Given the description of an element on the screen output the (x, y) to click on. 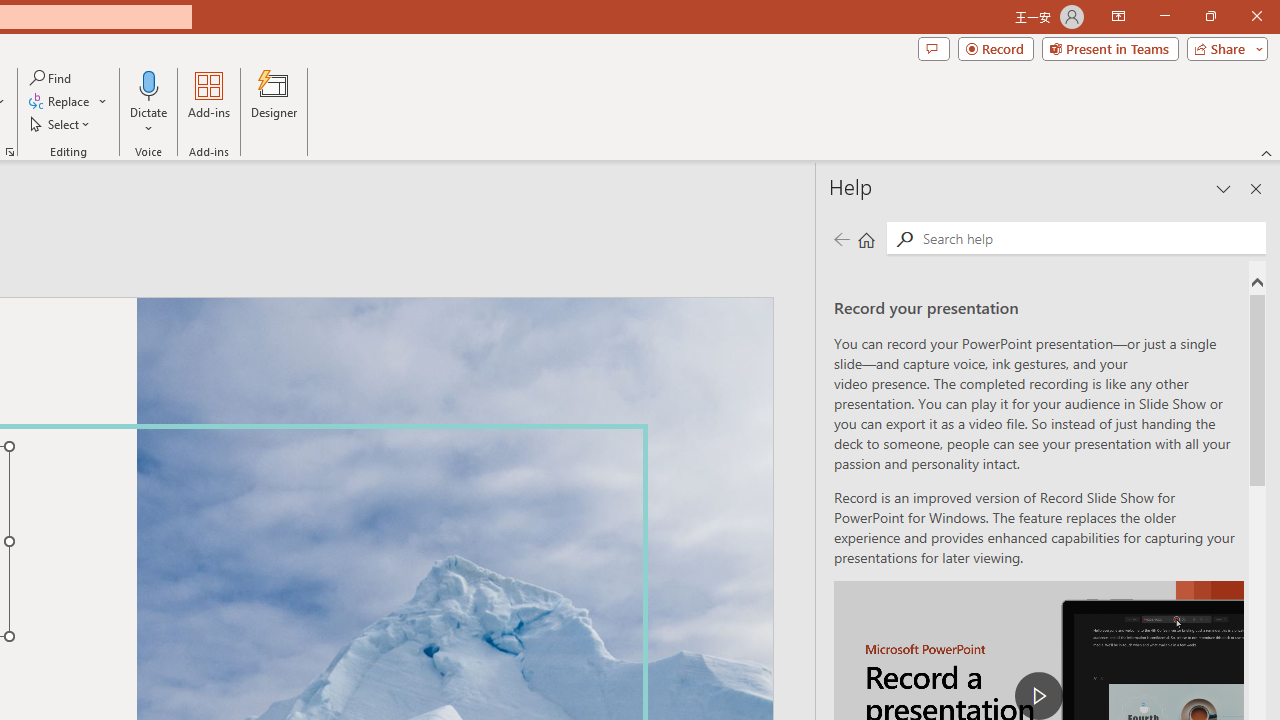
Dictate (149, 102)
Search (904, 238)
Present in Teams (1109, 48)
Replace... (68, 101)
Home (866, 238)
Select (61, 124)
Dictate (149, 84)
Close (1256, 16)
Record (995, 48)
Task Pane Options (1224, 188)
play Record a Presentation (1038, 695)
Collapse the Ribbon (1267, 152)
